Given the description of an element on the screen output the (x, y) to click on. 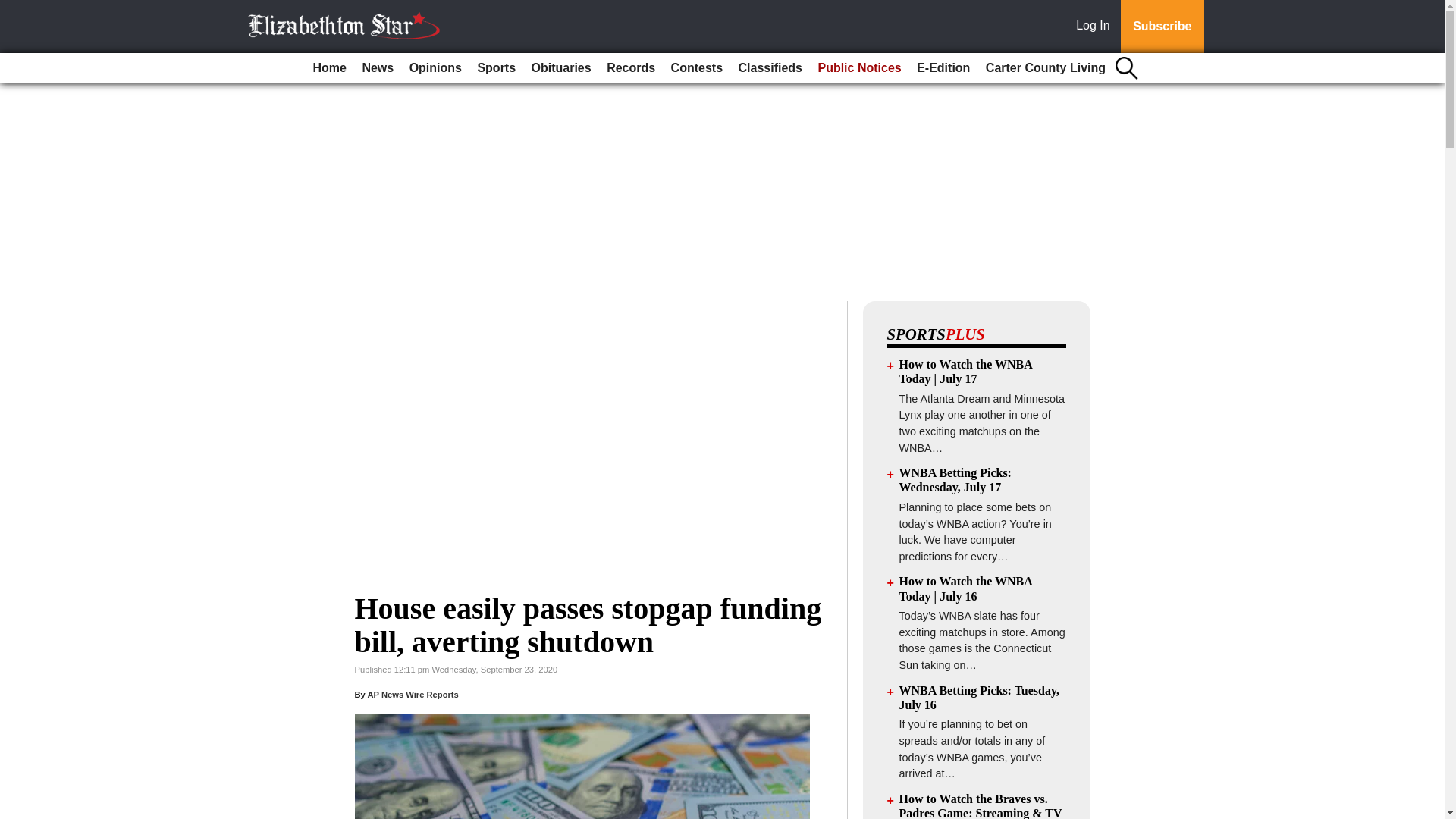
Obituaries (560, 68)
Contests (697, 68)
E-Edition (943, 68)
Go (13, 9)
Public Notices (858, 68)
AP News Wire Reports (412, 694)
Carter County Living (1045, 68)
Records (630, 68)
Sports (495, 68)
Home (328, 68)
Opinions (435, 68)
WNBA Betting Picks: Tuesday, July 16 (979, 697)
Subscribe (1162, 26)
Log In (1095, 26)
News (376, 68)
